Given the description of an element on the screen output the (x, y) to click on. 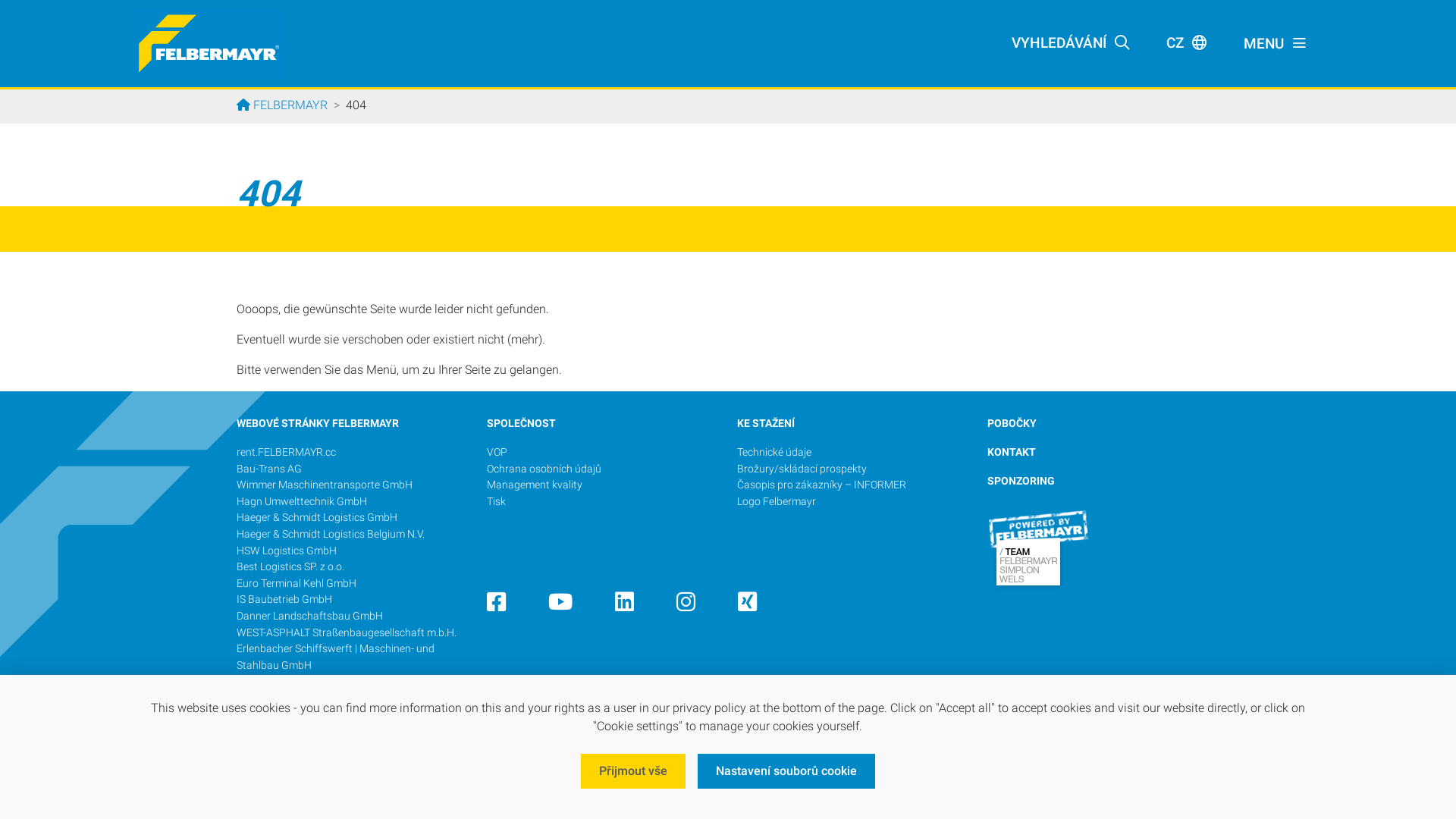
Facebook Element type: text (495, 605)
Erlenbacher Schiffswerft | Maschinen- und Stahlbau GmbH Element type: text (335, 656)
Bau-Trans AG Element type: text (268, 468)
Danner Landschaftsbau GmbH Element type: text (309, 615)
IS Baubetrieb GmbH Element type: text (284, 599)
Management kvality Element type: text (534, 484)
Tisk Element type: text (495, 501)
MENU Element type: text (1275, 43)
Haeger & Schmidt Logistics Belgium N.V. Element type: text (330, 533)
KONTAKT Element type: text (1011, 451)
FELBERMAYR Element type: text (281, 104)
Instagram Element type: text (685, 605)
Logo Felbermayr Element type: text (776, 501)
Domarin Tief-, Wasserbau und Schifffahrtsgesellschaft mbH Element type: text (307, 689)
YouTube Element type: text (560, 605)
VOP Element type: text (496, 451)
CZ Element type: text (1186, 43)
Xing Element type: text (746, 605)
Haeger & Schmidt Logistics GmbH Element type: text (316, 517)
Best Logistics SP. z o.o. Element type: text (290, 566)
Euro Terminal Kehl GmbH Element type: text (296, 583)
Hagn Umwelttechnik GmbH Element type: text (301, 501)
LinkedIn Element type: text (624, 605)
Wimmer Maschinentransporte GmbH Element type: text (324, 484)
Impresum Element type: text (870, 762)
HSW Logistics GmbH Element type: text (286, 550)
